Given the description of an element on the screen output the (x, y) to click on. 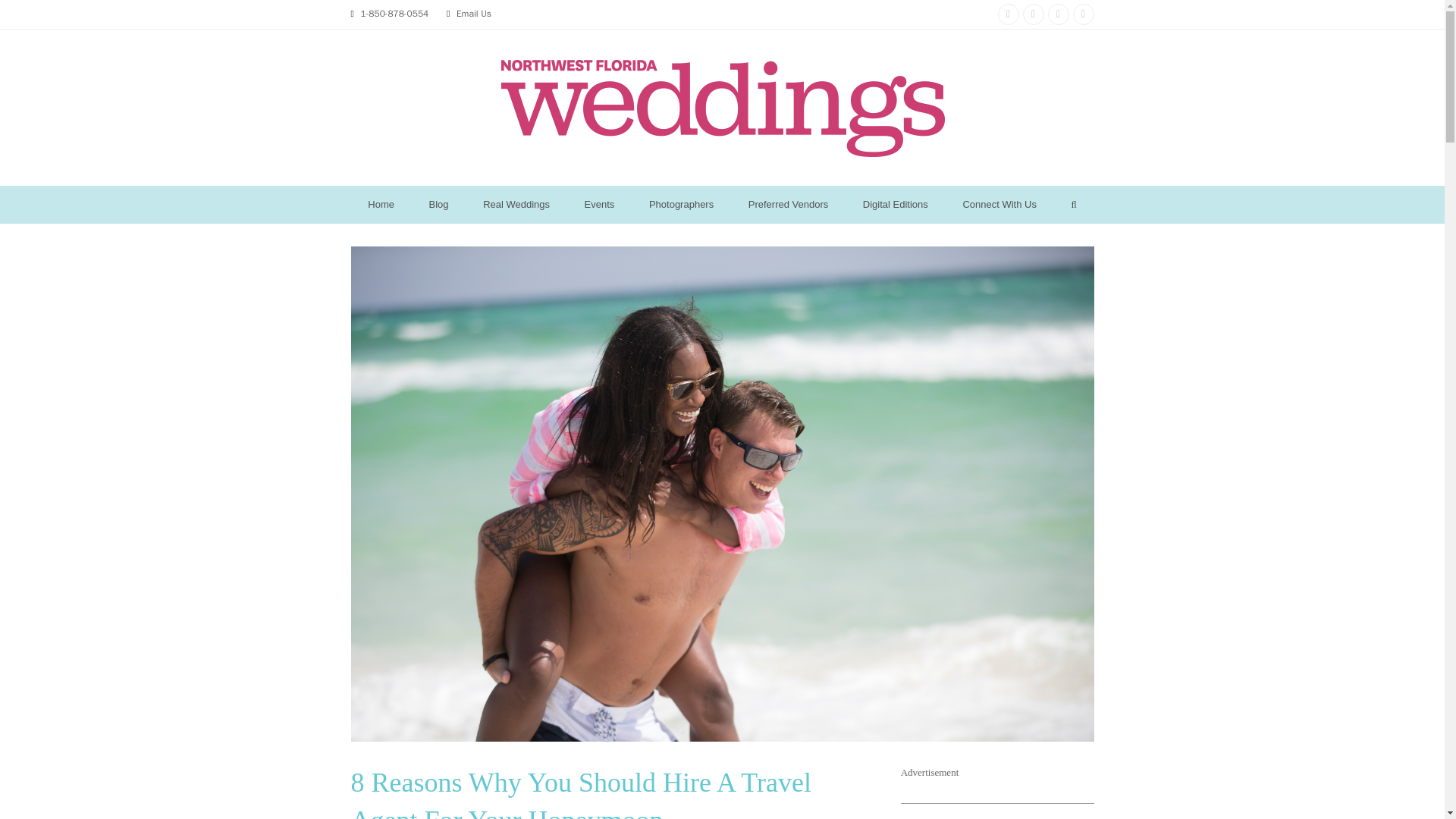
Events (599, 204)
Connect With Us (999, 204)
Home (380, 204)
Twitter (1082, 14)
Blog (438, 204)
Instagram (1008, 14)
Facebook (1032, 14)
Facebook (1032, 14)
Pinterest (1058, 14)
Pinterest (1058, 14)
